Given the description of an element on the screen output the (x, y) to click on. 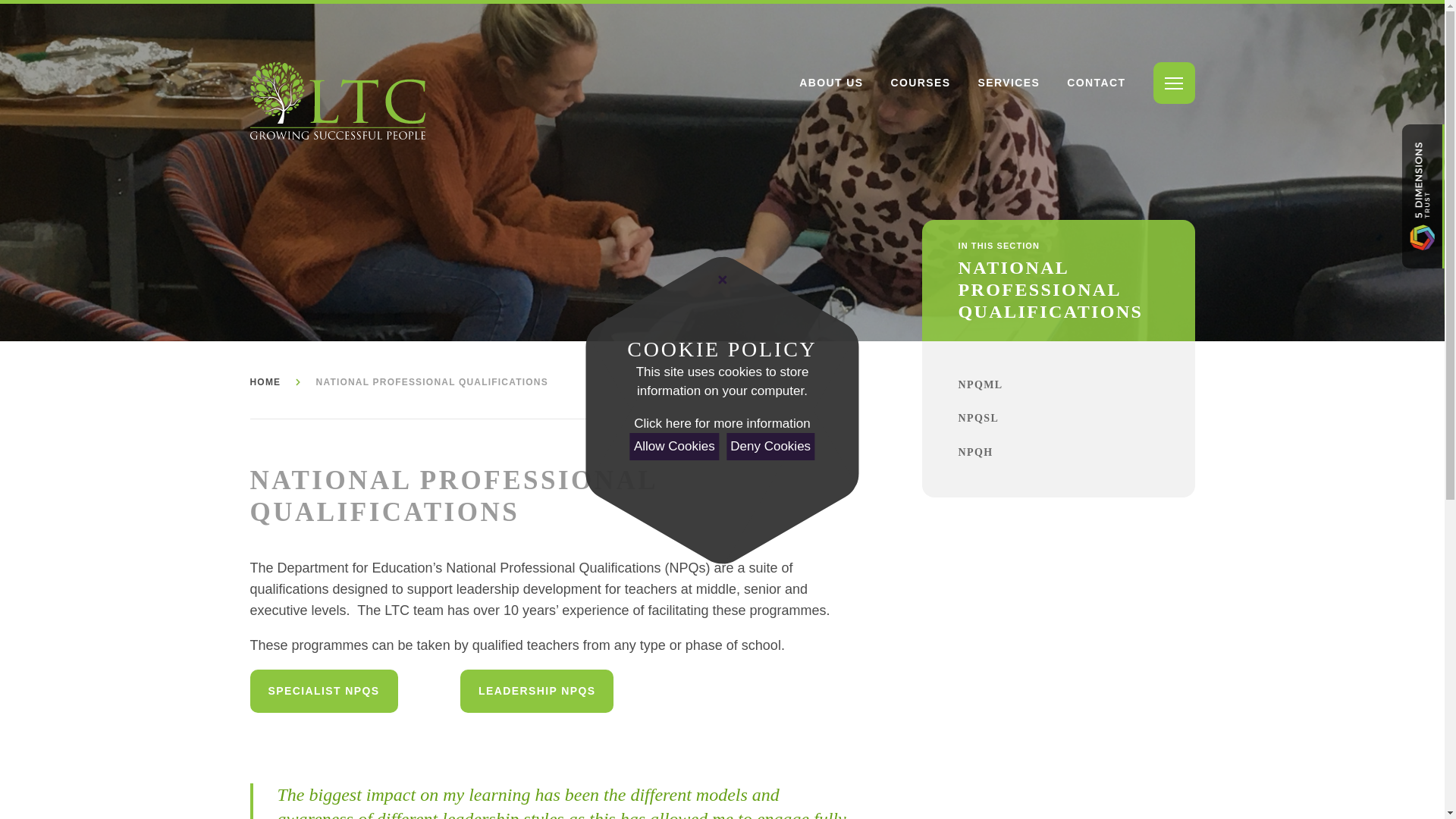
See cookie policy (721, 424)
Allow Cookies (674, 446)
COURSES (919, 82)
Deny Cookies (769, 446)
SERVICES (1009, 82)
CONTACT (1096, 82)
ABOUT US (831, 82)
